Given the description of an element on the screen output the (x, y) to click on. 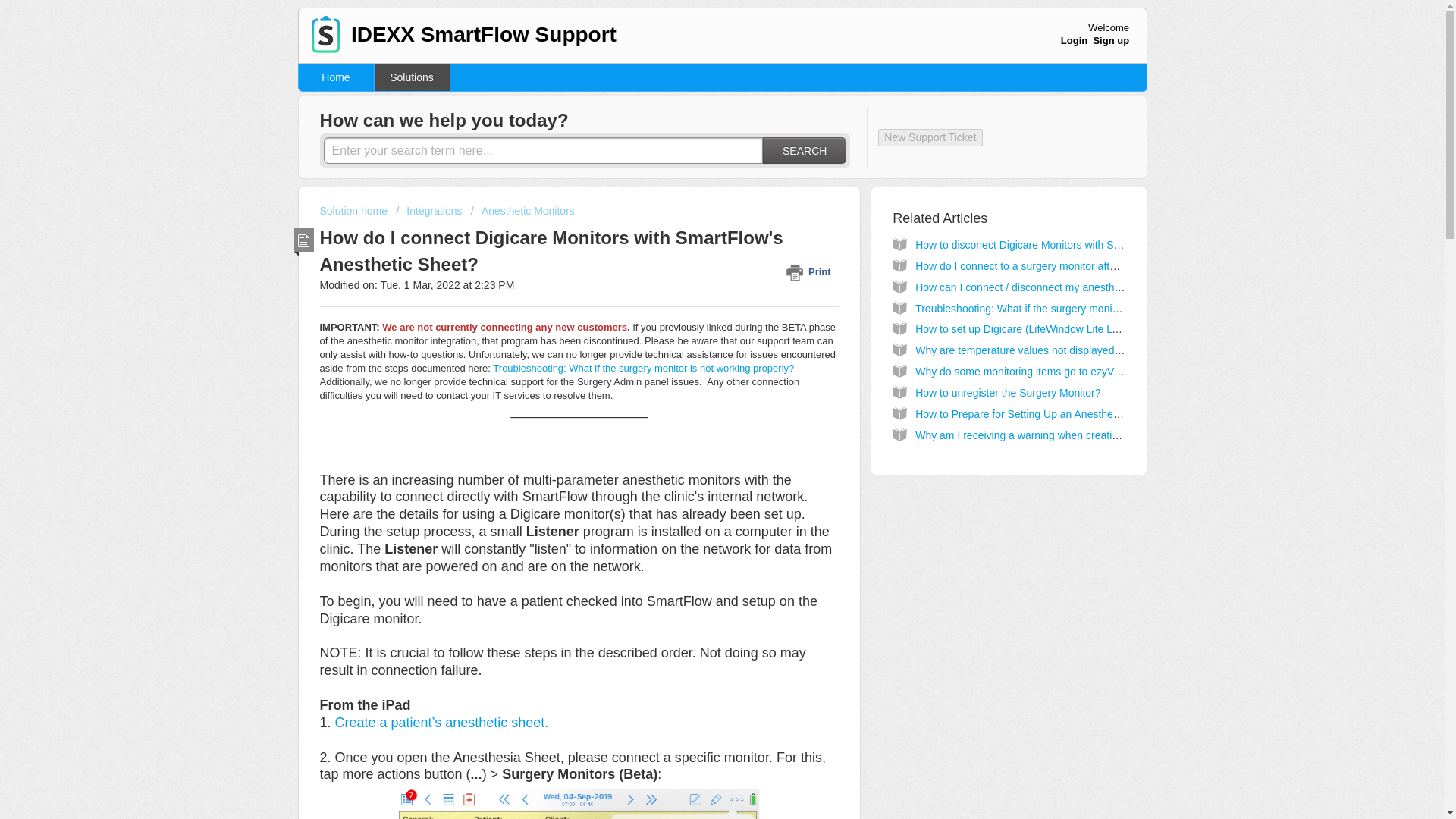
Print this Article (812, 271)
Anesthetic Monitors (521, 210)
Solution home (355, 210)
How do I connect to a surgery monitor after installation? (1046, 265)
How to Prepare for Setting Up an Anesthetic Monitor? (1041, 413)
SEARCH (803, 150)
How to unregister the Surgery Monitor? (1007, 392)
Integrations (429, 210)
Login (1074, 40)
New Support Ticket (929, 137)
Print (812, 271)
Sign up (1111, 40)
